Given the description of an element on the screen output the (x, y) to click on. 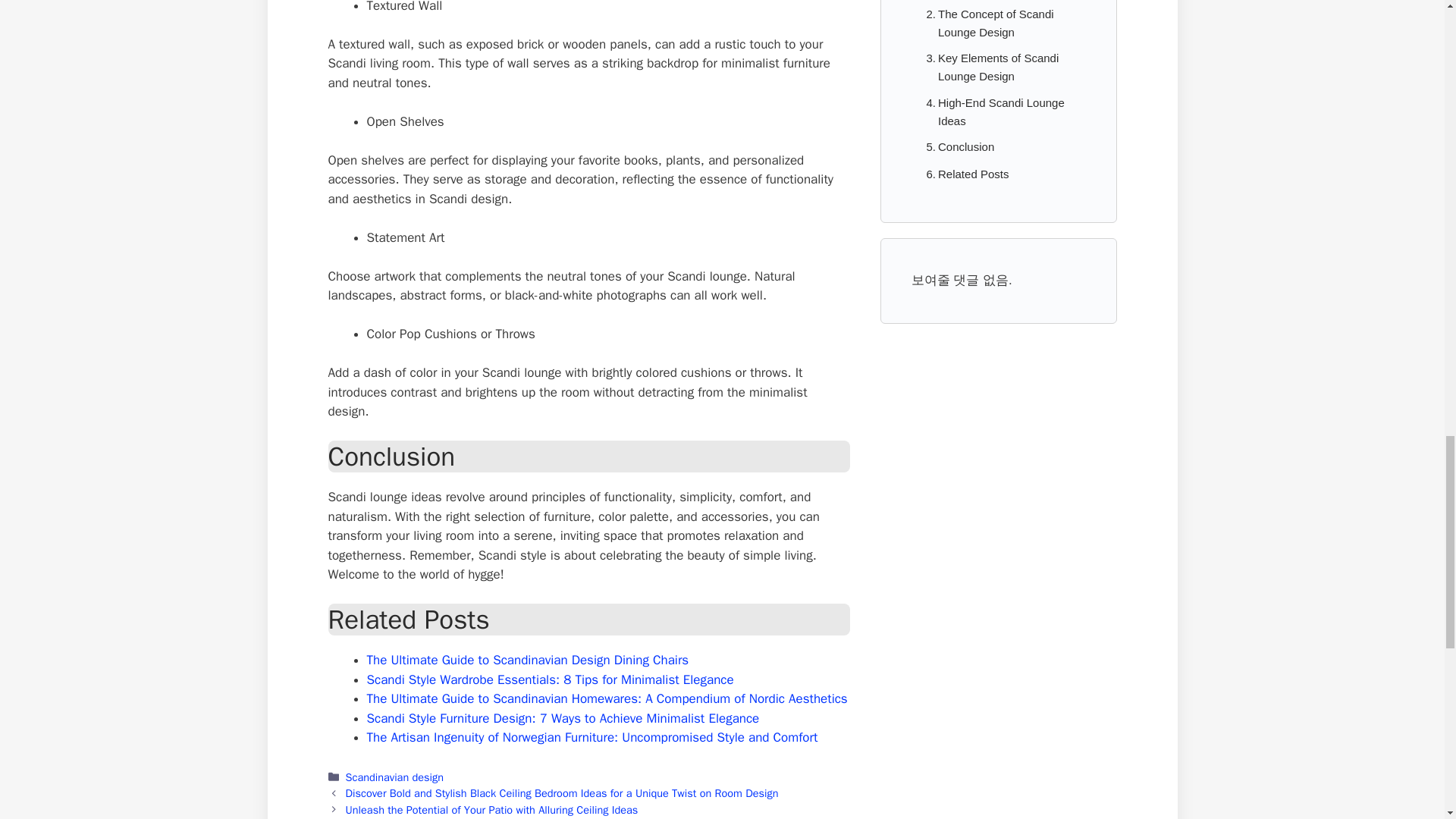
Related Posts (963, 174)
The Concept of Scandi Lounge Design (998, 22)
High-End Scandi Lounge Ideas (998, 112)
Key Elements of Scandi Lounge Design (998, 67)
Scandinavian design (395, 776)
The Ultimate Guide to Scandinavian Design Dining Chairs (527, 659)
Conclusion (956, 147)
